Given the description of an element on the screen output the (x, y) to click on. 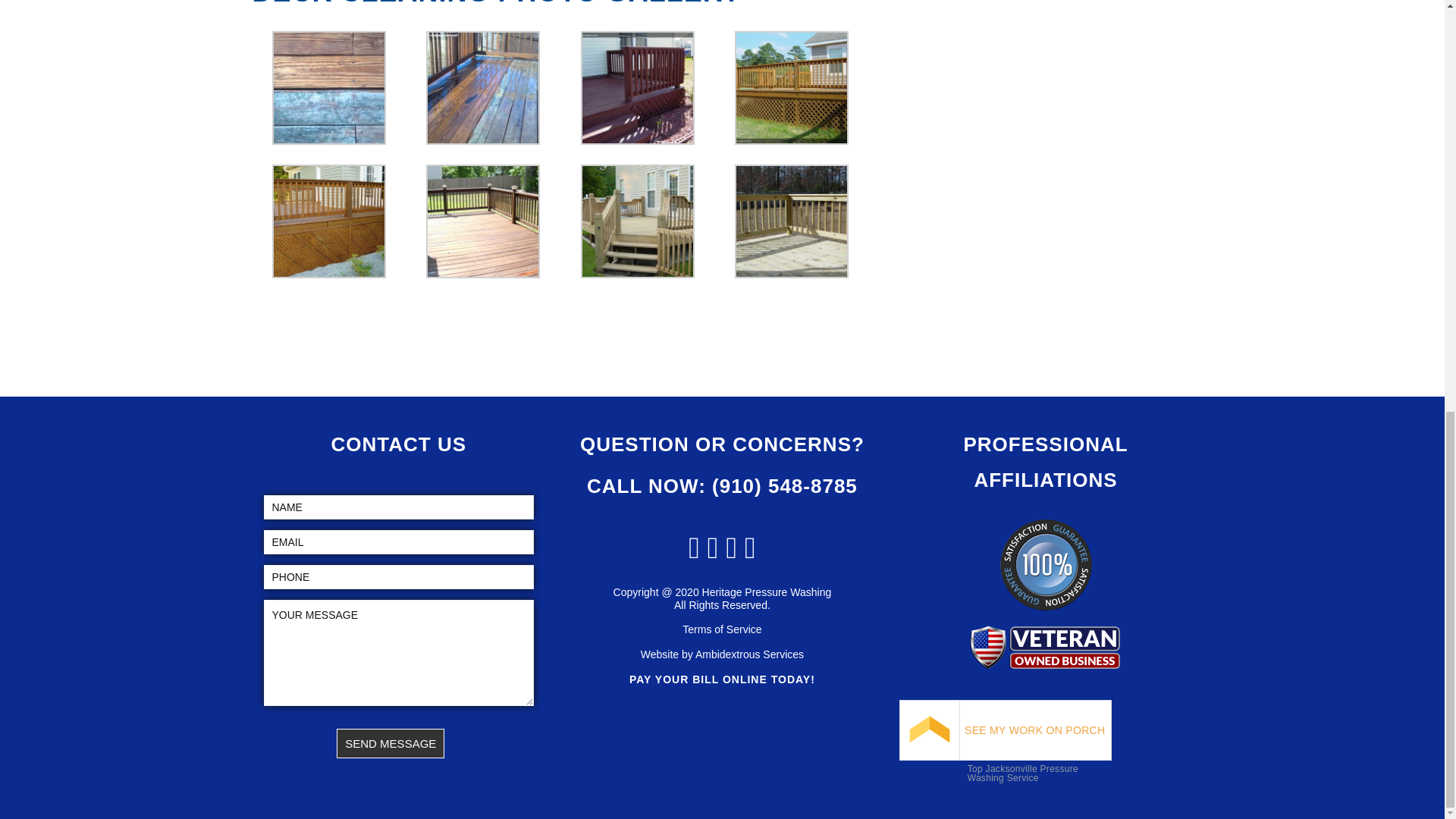
PHONE (398, 576)
SEND MESSAGE (390, 743)
NAME (398, 507)
veteran-owned-business (1045, 647)
Satisfaction Guaranteed (1046, 564)
EMAIL (398, 541)
